Given the description of an element on the screen output the (x, y) to click on. 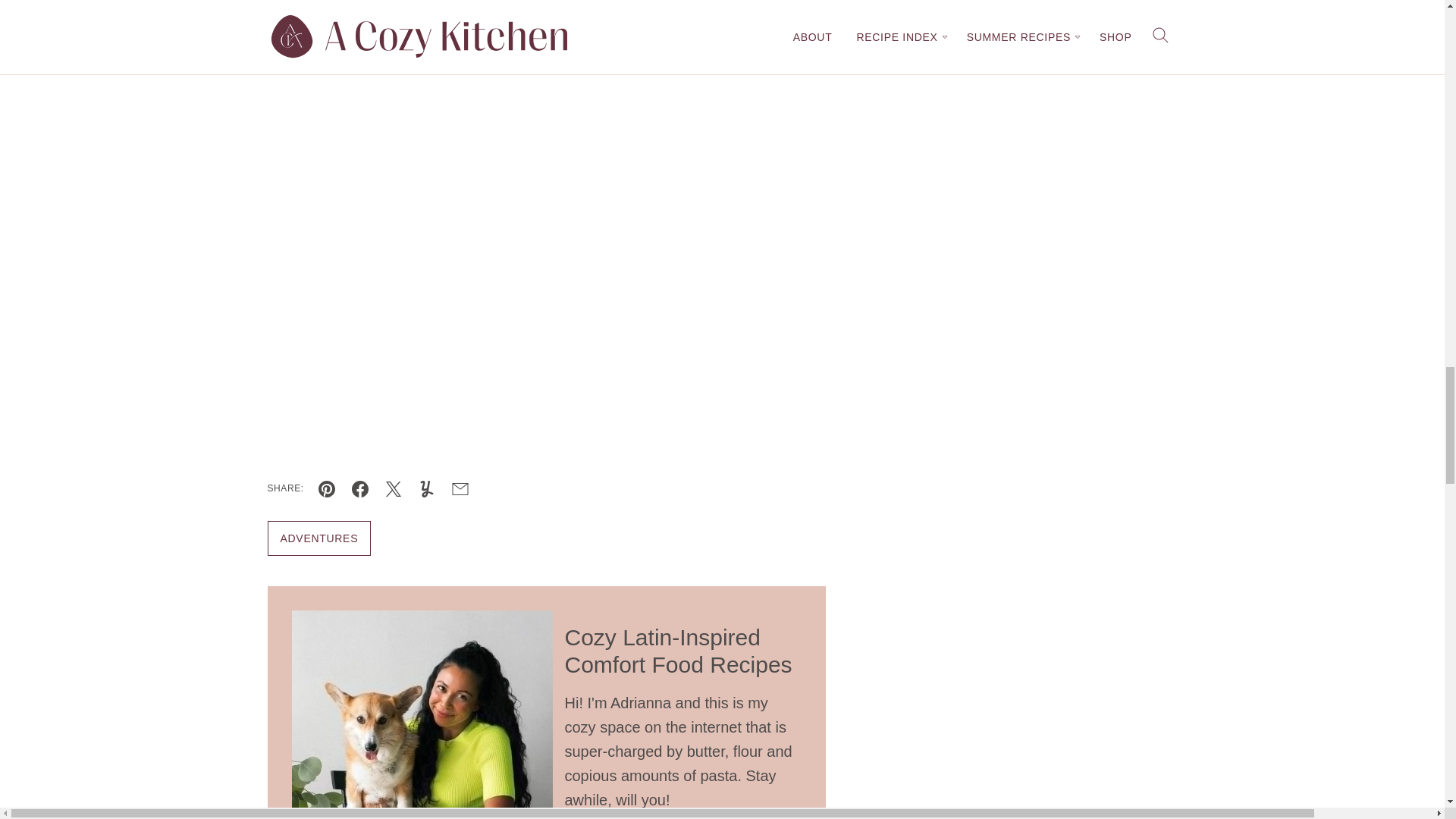
Share via Email (460, 489)
Share on Pinterest (326, 489)
Share on Twitter (393, 489)
Share on Yummly (427, 489)
carousel2 (494, 123)
Share on Facebook (360, 489)
